Given the description of an element on the screen output the (x, y) to click on. 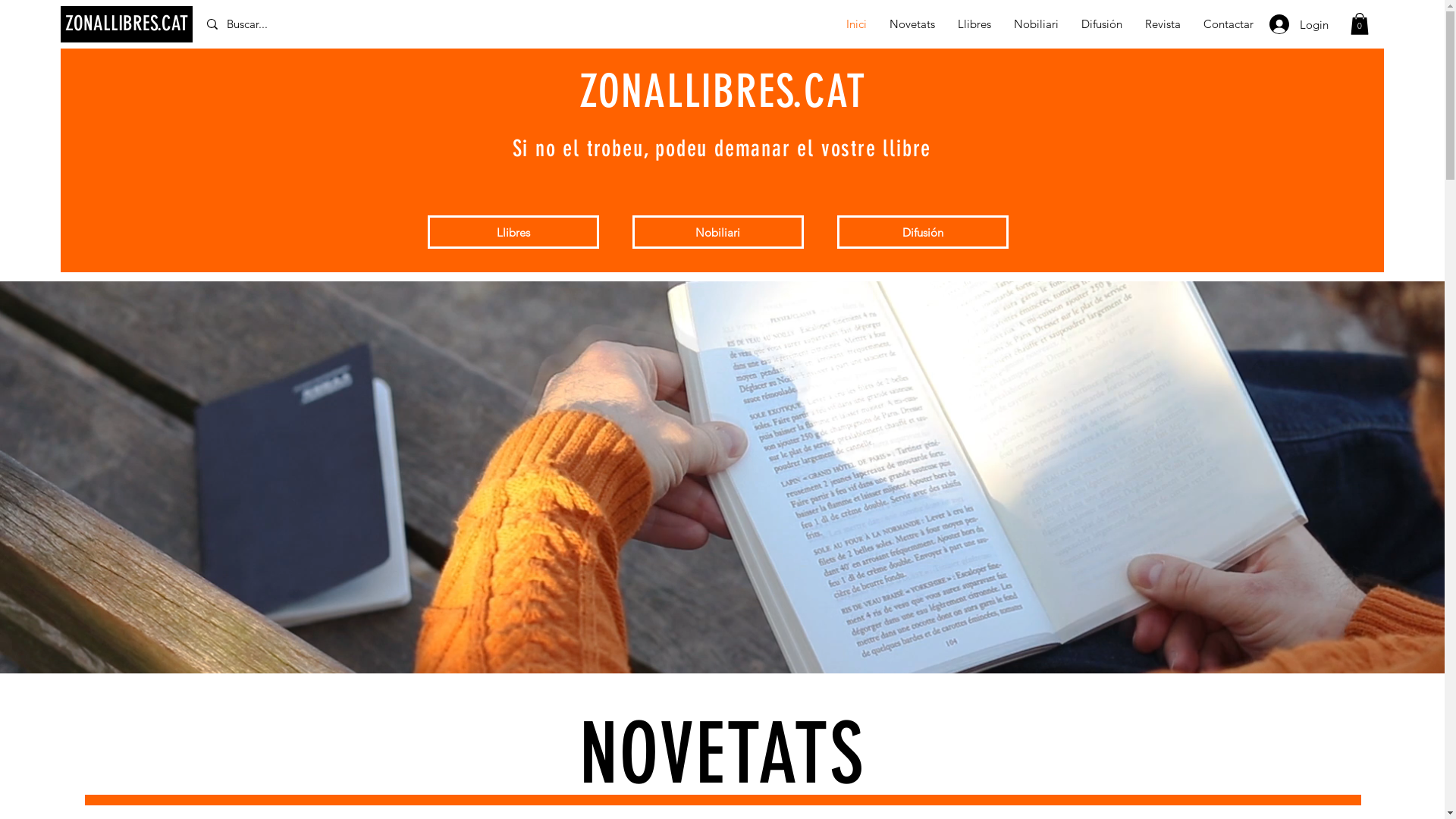
0 Element type: text (1359, 23)
Nobiliari Element type: text (717, 231)
Llibres Element type: text (974, 23)
Revista Element type: text (1162, 23)
Novetats Element type: text (912, 23)
Nobiliari Element type: text (1036, 23)
Contactar Element type: text (1228, 23)
ZONALLIBRES.CAT Element type: text (126, 24)
Inici Element type: text (856, 23)
Login Element type: text (1298, 23)
Llibres Element type: text (513, 231)
